Given the description of an element on the screen output the (x, y) to click on. 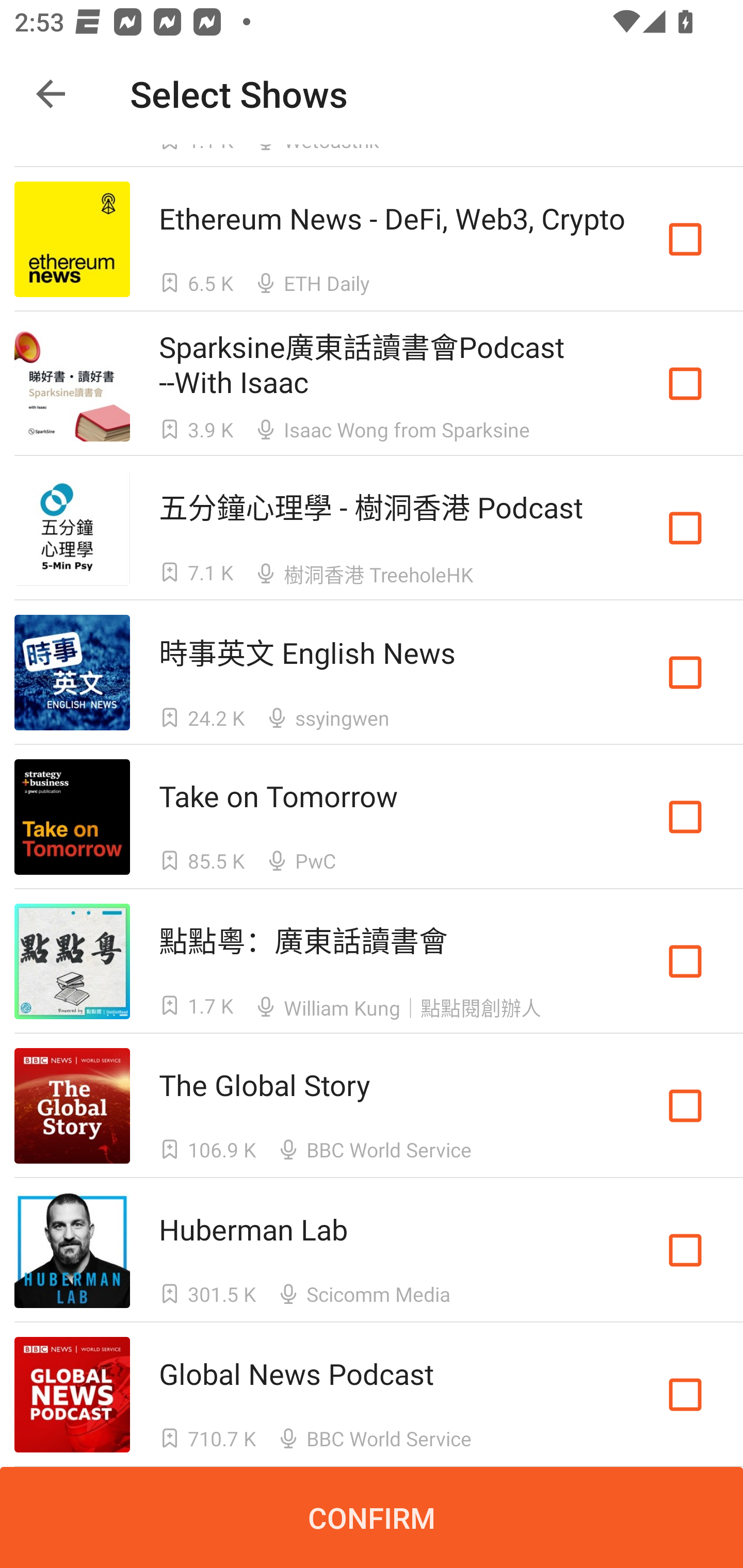
Navigate up (50, 93)
Take on Tomorrow Take on Tomorrow  85.5 K  PwC (371, 816)
CONFIRM (371, 1517)
